Given the description of an element on the screen output the (x, y) to click on. 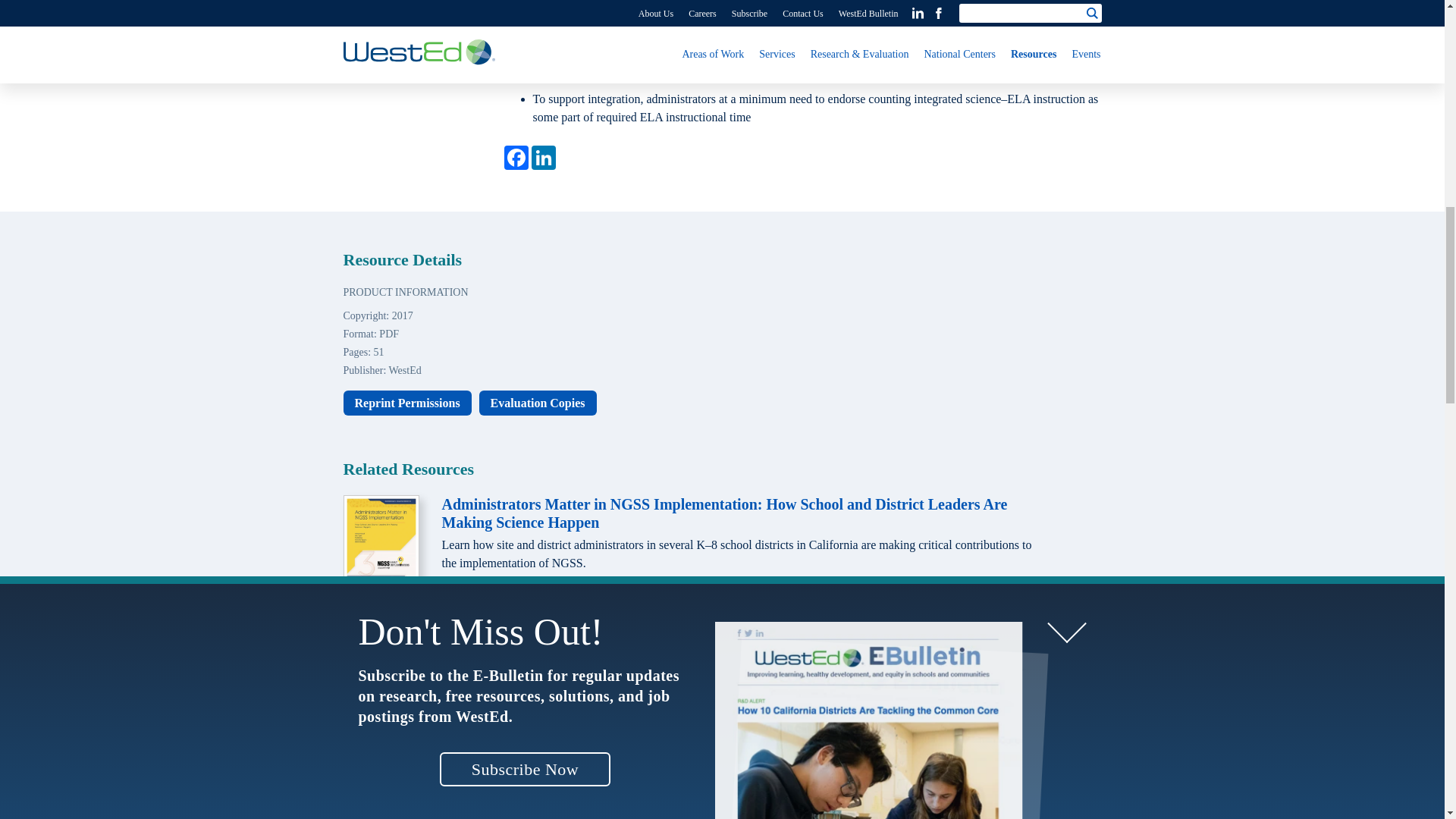
Subscribe Now (525, 7)
